Given the description of an element on the screen output the (x, y) to click on. 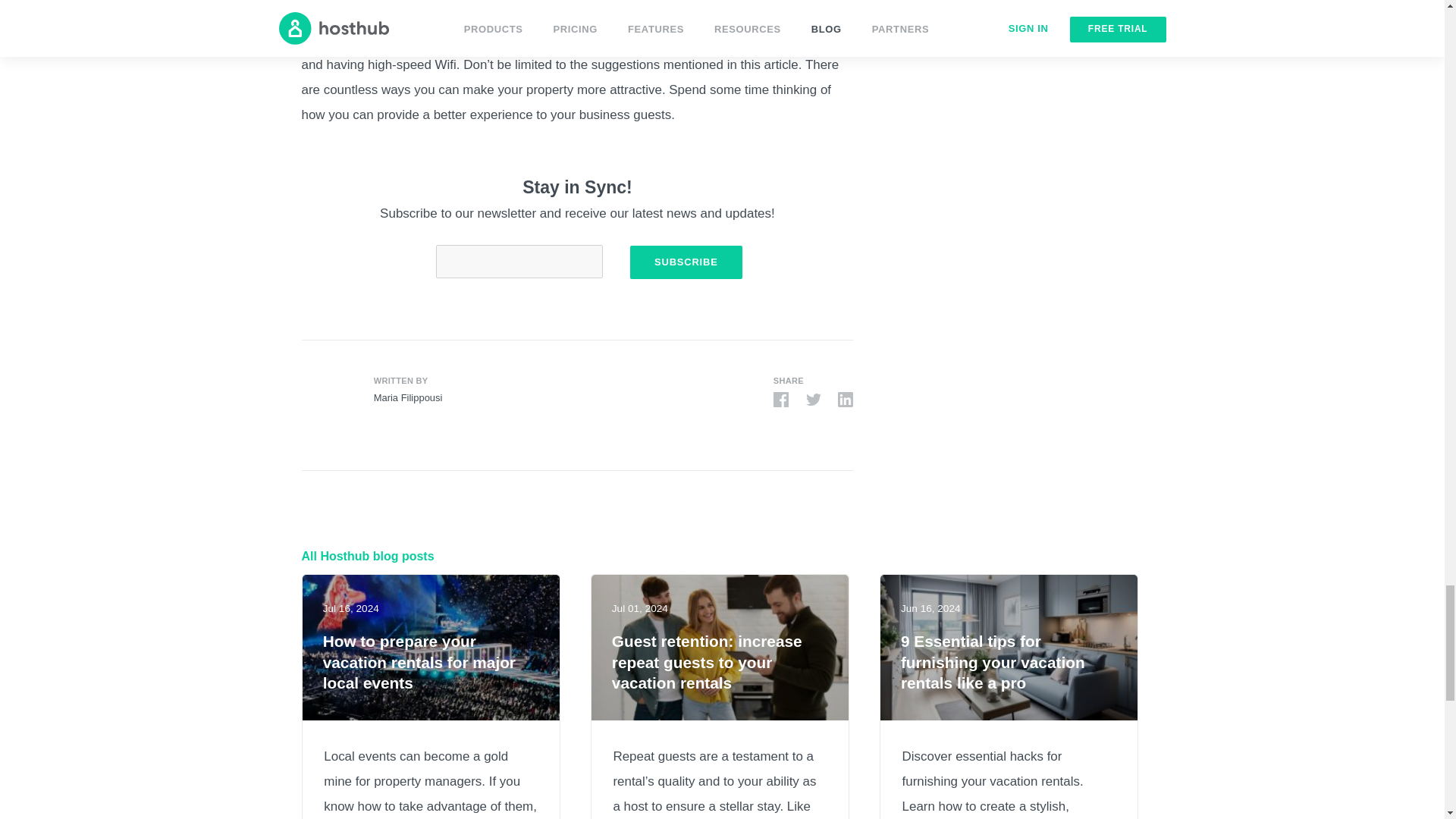
Linkedin (845, 399)
Twitter (813, 399)
Subscribe (686, 262)
Facebook (781, 399)
